Given the description of an element on the screen output the (x, y) to click on. 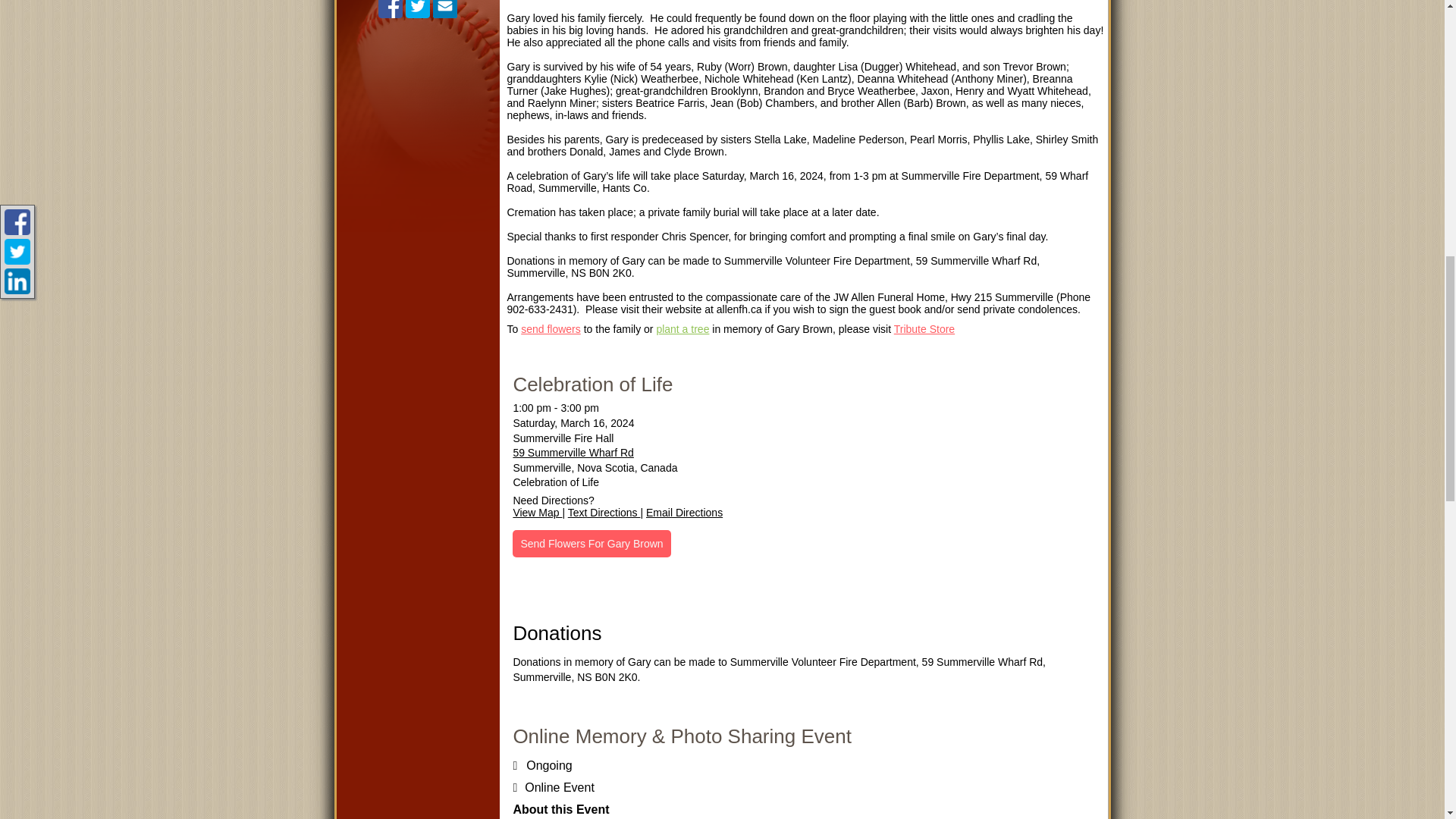
Twitter (417, 9)
Receive Notifications (444, 9)
Facebook (390, 9)
